Given the description of an element on the screen output the (x, y) to click on. 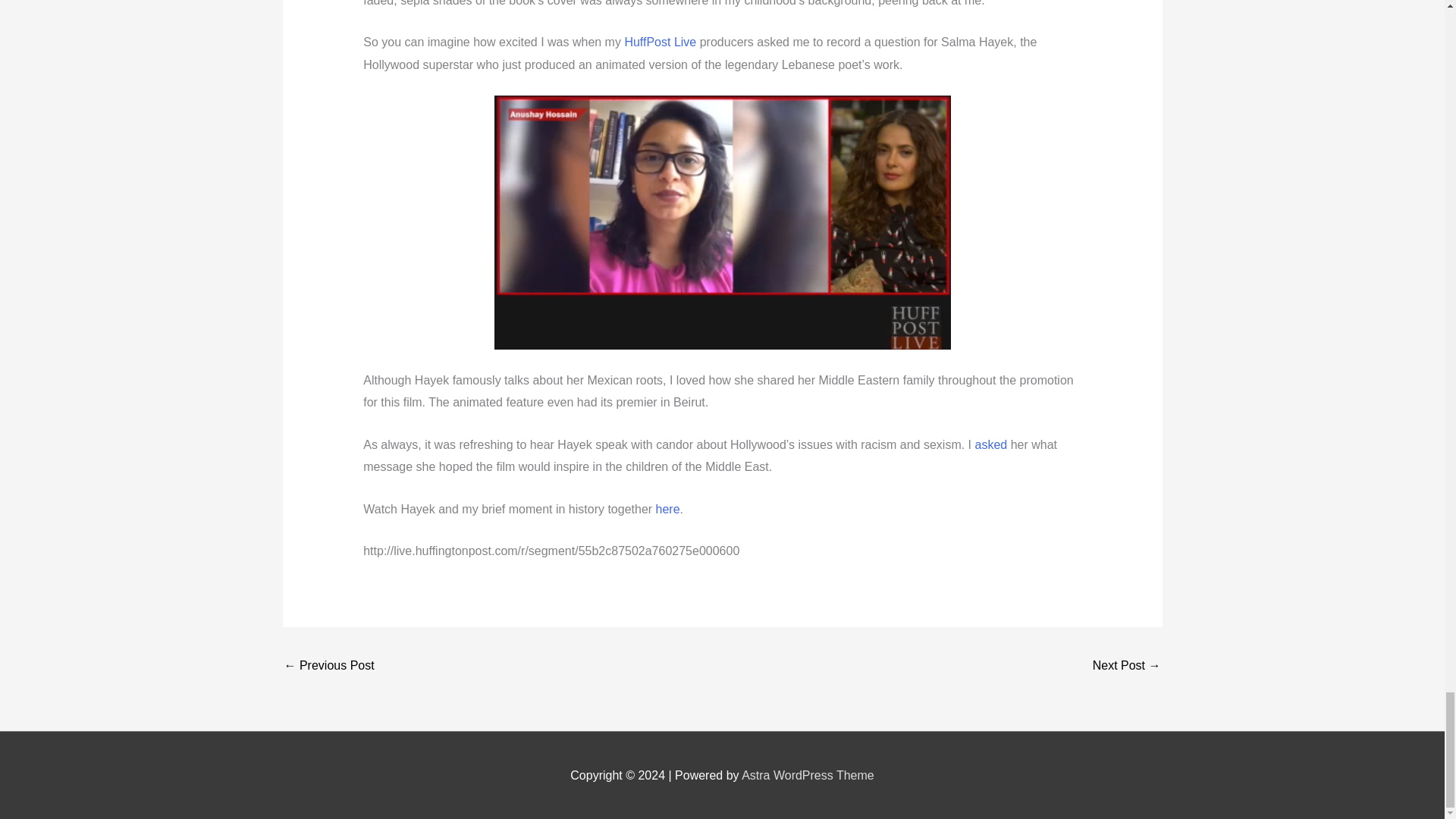
Planned Parenthood Under Fresh Attacks (328, 666)
